Given the description of an element on the screen output the (x, y) to click on. 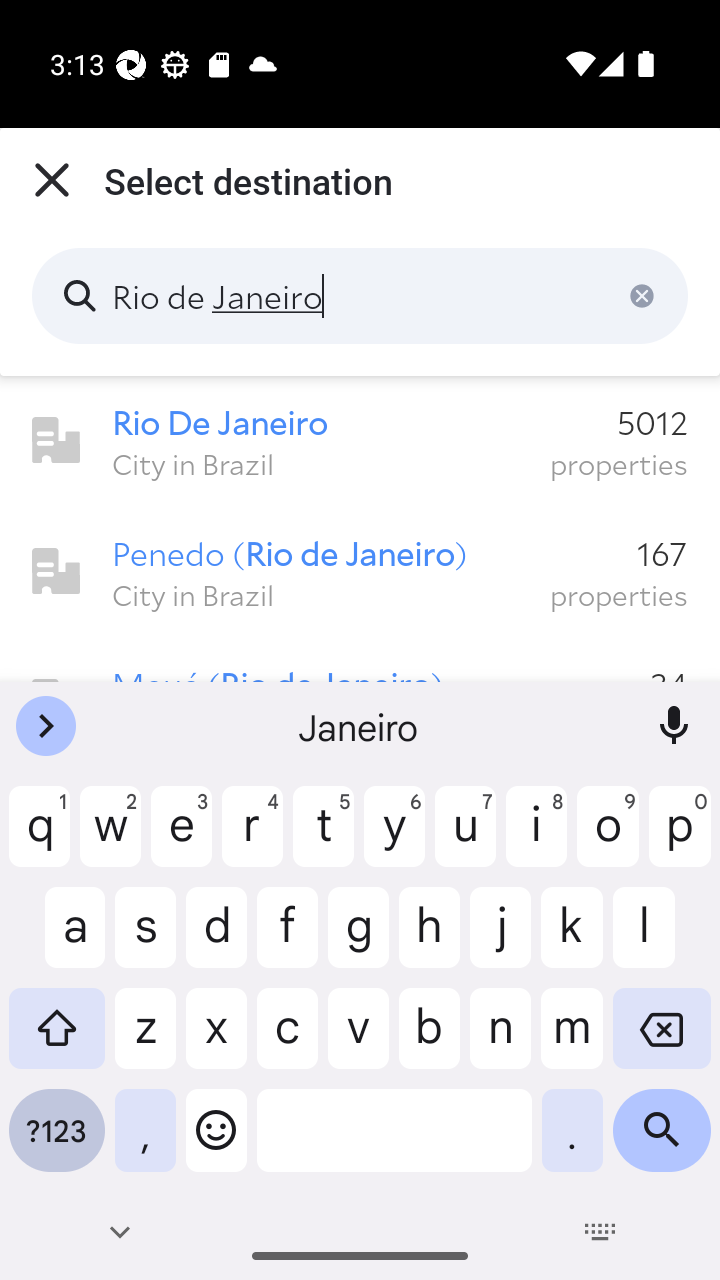
Rio de Janeiro (359, 296)
Rio De Janeiro 5012 City in Brazil properties (360, 441)
